Given the description of an element on the screen output the (x, y) to click on. 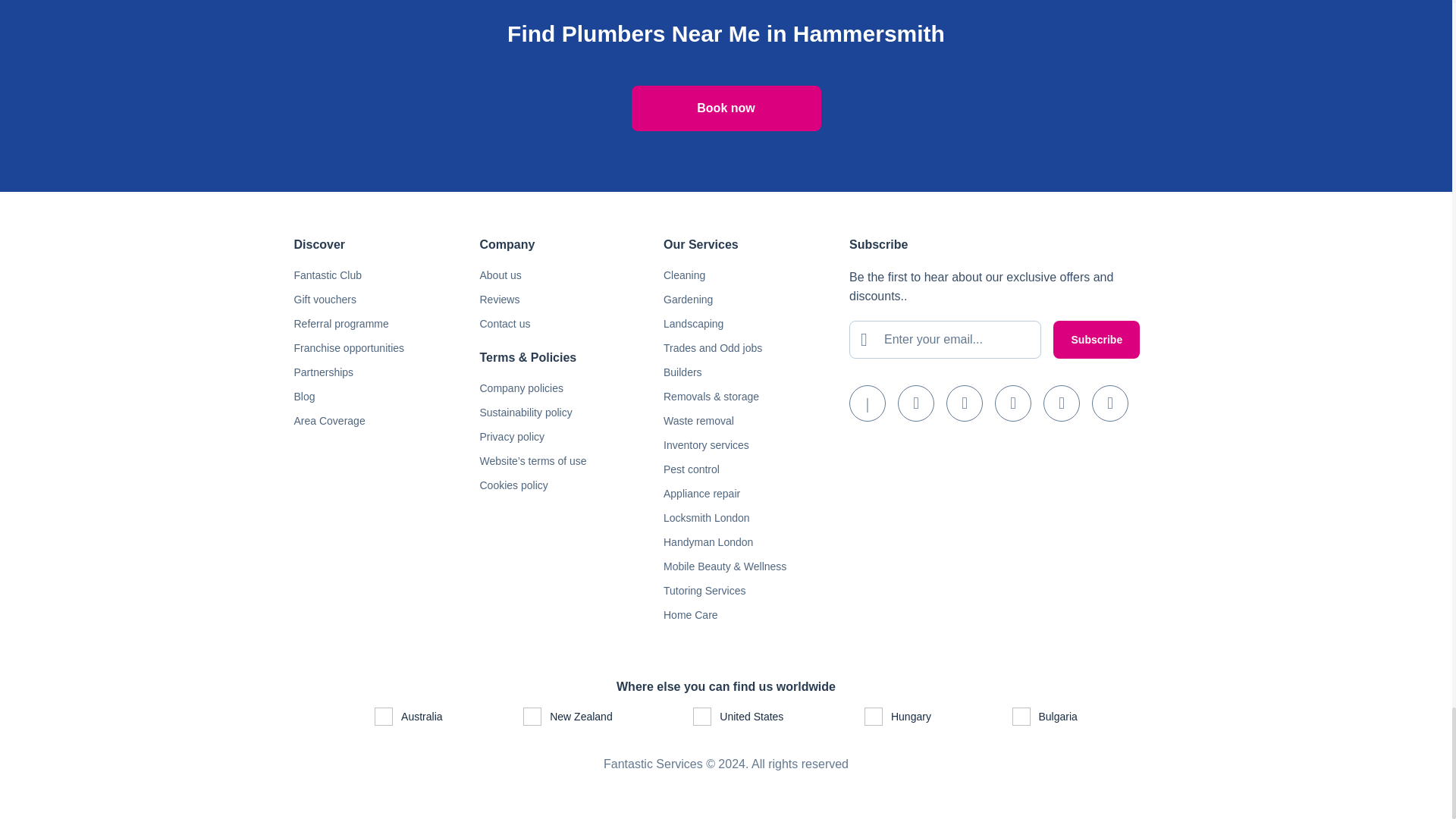
Subscribe (1096, 339)
